Given the description of an element on the screen output the (x, y) to click on. 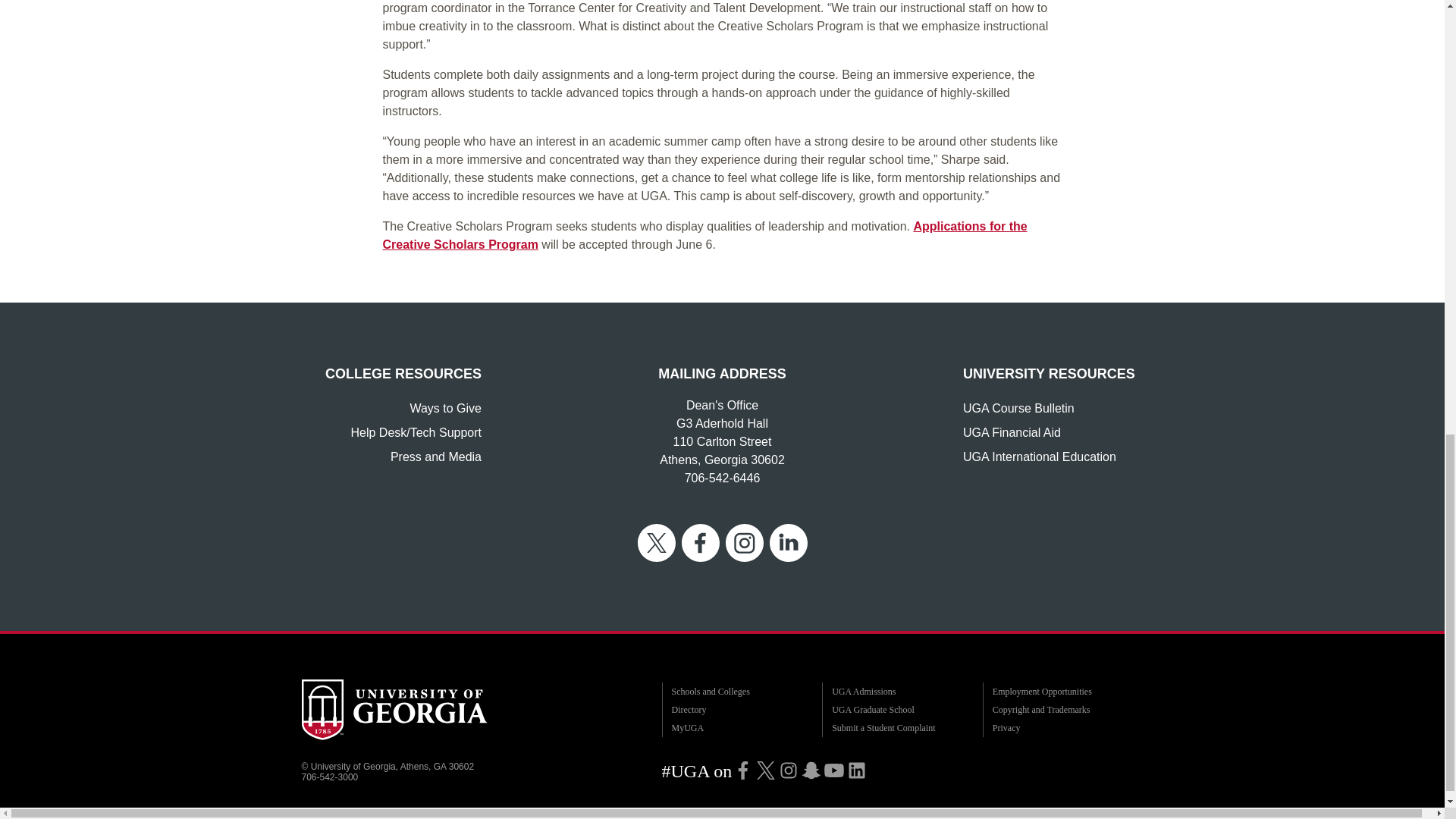
Facebook (743, 770)
Twitter (765, 770)
LinkedIn (856, 770)
Snapchat (810, 770)
Instagram (788, 770)
YouTube (833, 770)
